Given the description of an element on the screen output the (x, y) to click on. 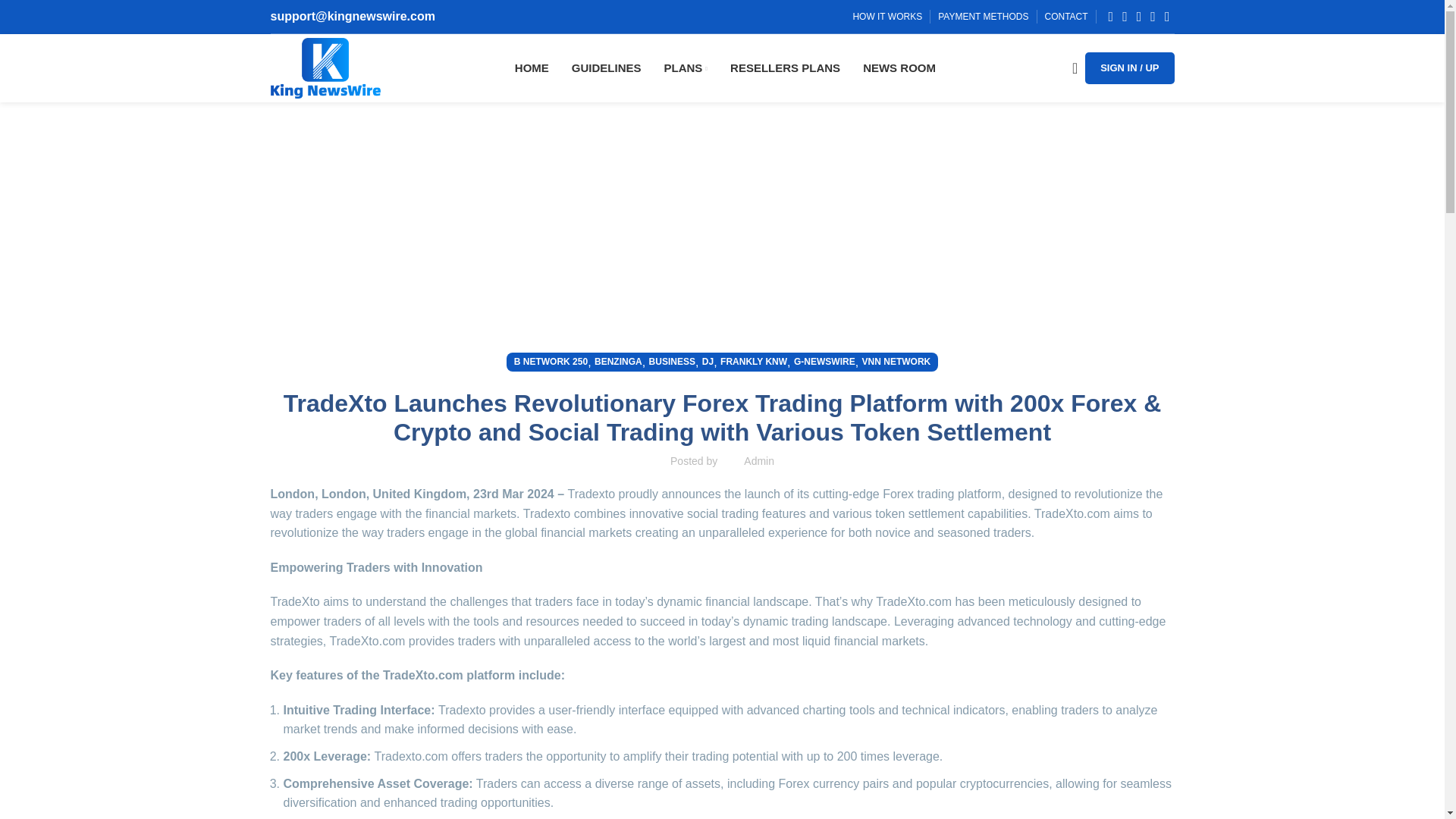
VNN NETWORK (896, 361)
CONTACT (1066, 16)
Admin (759, 460)
PLANS (685, 68)
BUSINESS (672, 361)
B NETWORK 250 (550, 361)
PAYMENT METHODS (982, 16)
BENZINGA (618, 361)
NEWS ROOM (899, 68)
HOME (531, 68)
G-NEWSWIRE (824, 361)
HOW IT WORKS (886, 16)
RESELLERS PLANS (785, 68)
FRANKLY KNW (753, 361)
